Given the description of an element on the screen output the (x, y) to click on. 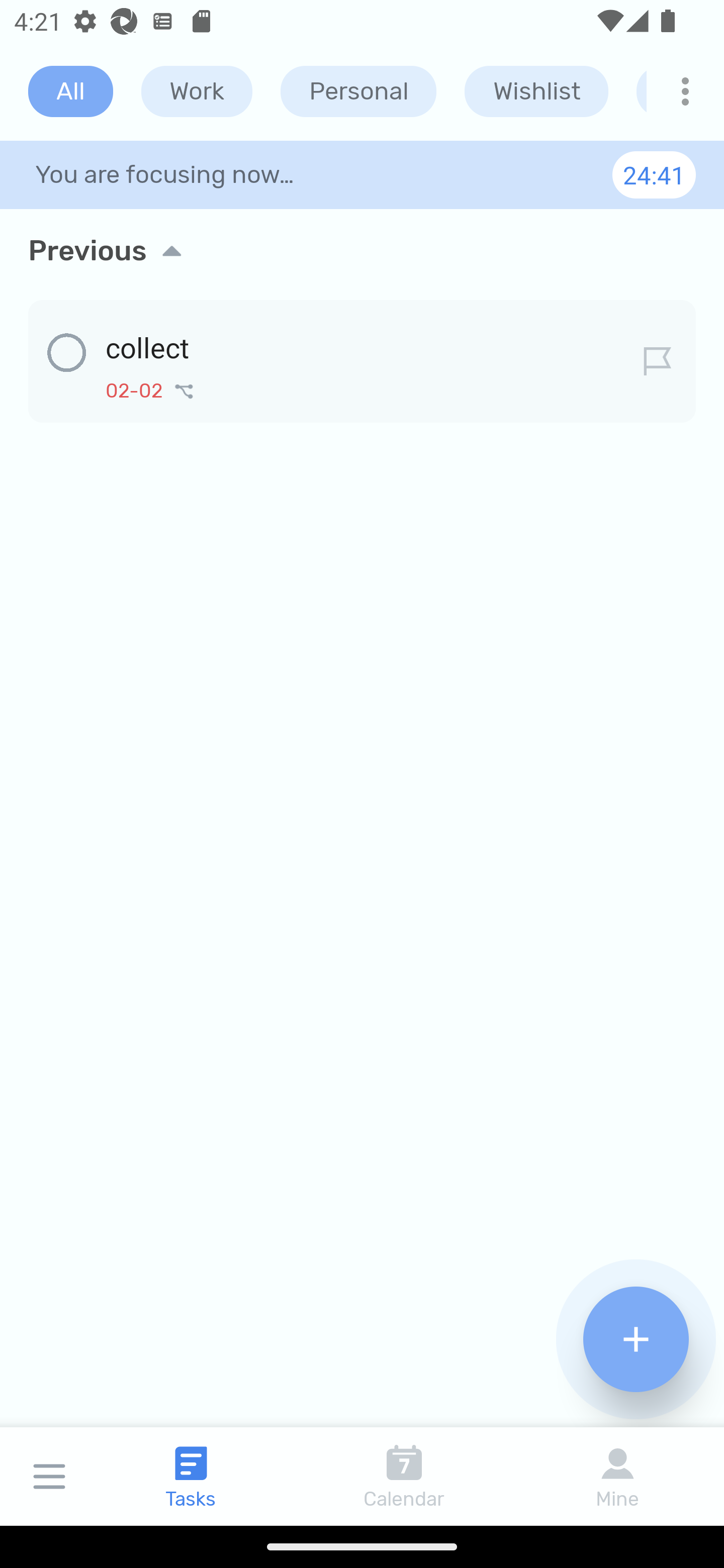
All (70, 91)
Work (196, 91)
Personal (358, 91)
Wishlist (536, 91)
You are focusing now… 24:42 (362, 174)
Previous (362, 250)
collect 02-02 (362, 358)
Tasks (190, 1475)
Calendar (404, 1475)
Mine (617, 1475)
